Given the description of an element on the screen output the (x, y) to click on. 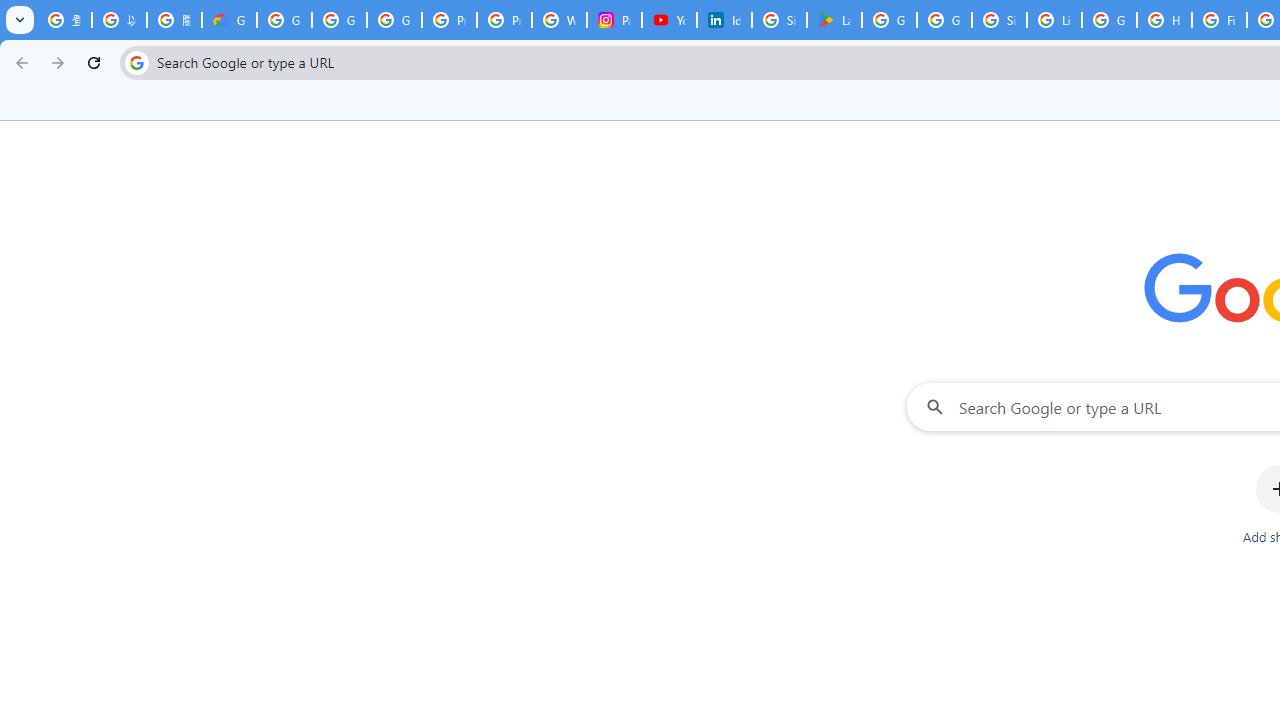
Last Shelter: Survival - Apps on Google Play (833, 20)
Sign in - Google Accounts (998, 20)
Privacy Help Center - Policies Help (449, 20)
